Given the description of an element on the screen output the (x, y) to click on. 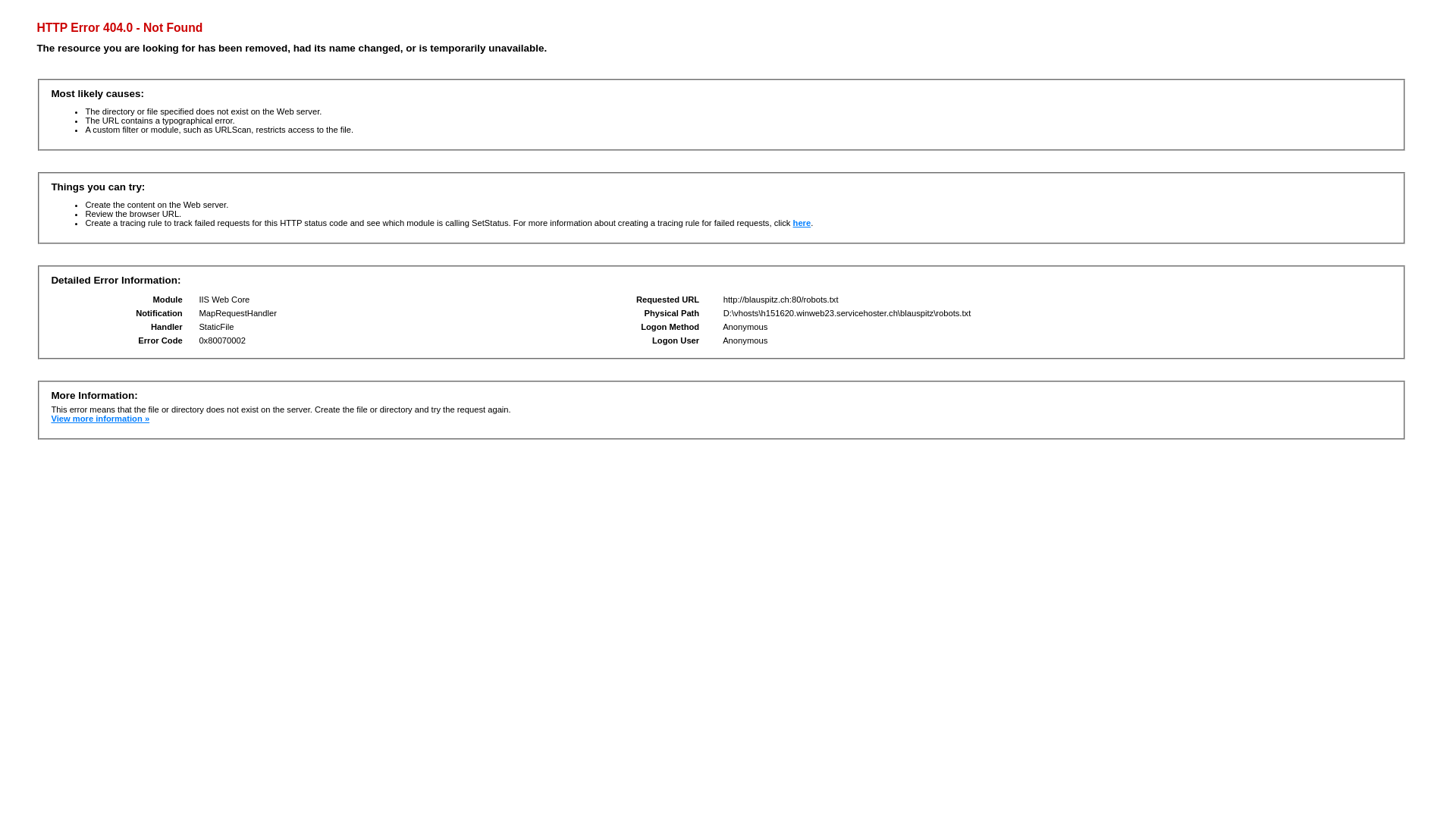
here Element type: text (802, 222)
